Given the description of an element on the screen output the (x, y) to click on. 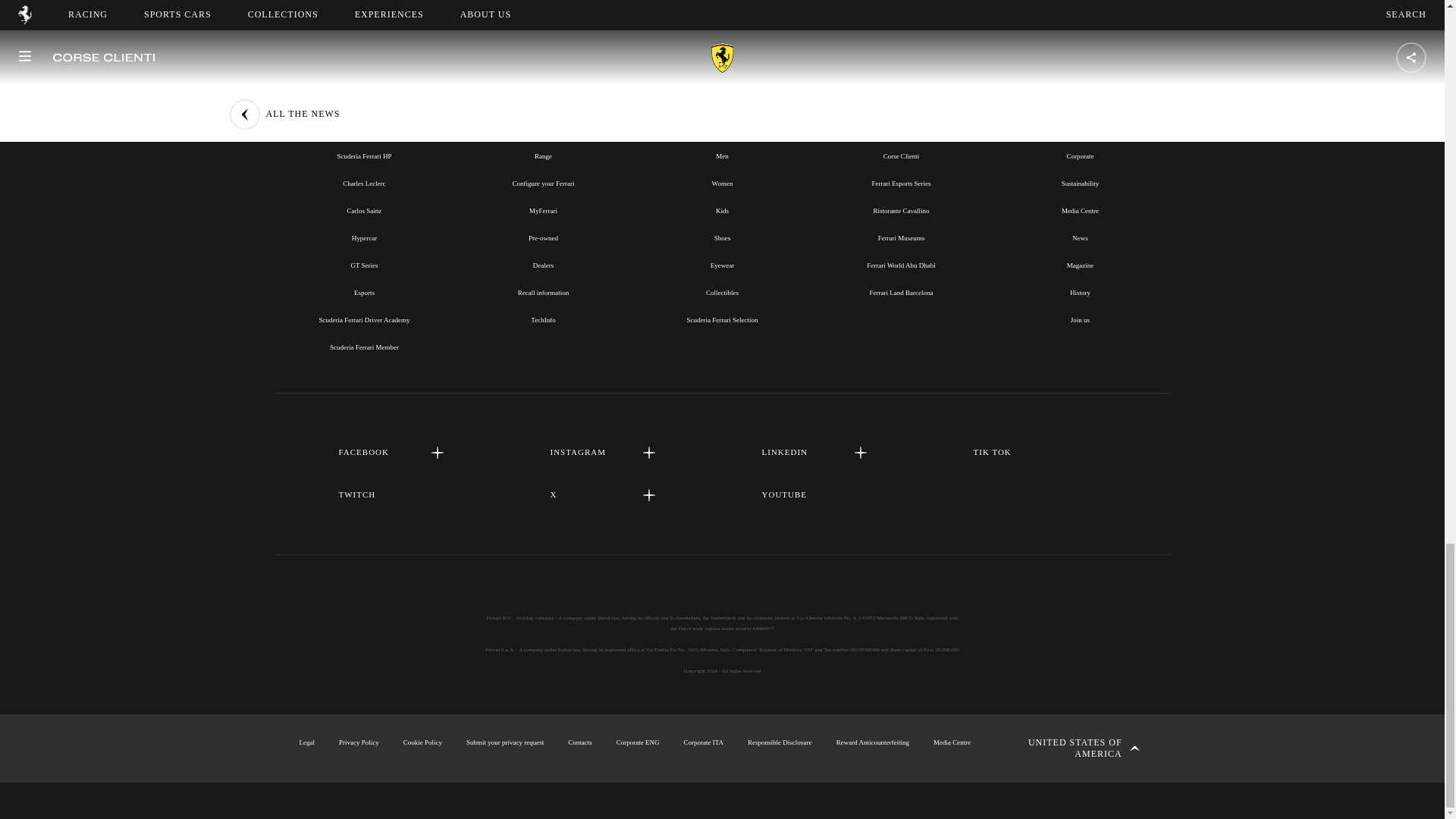
Configure your Ferrari (543, 183)
Change country (1072, 748)
Pre-owned (542, 237)
Charles Leclerc (363, 183)
Scuderia Ferrari Member (364, 347)
SPORTS CARS (542, 121)
Range (542, 155)
Hypercar (364, 237)
Dealers (542, 265)
Esports (363, 292)
COLLECTIONS (721, 121)
MyFerrari (543, 210)
Carlos Sainz (364, 210)
GT Series (363, 265)
RACING (363, 121)
